Given the description of an element on the screen output the (x, y) to click on. 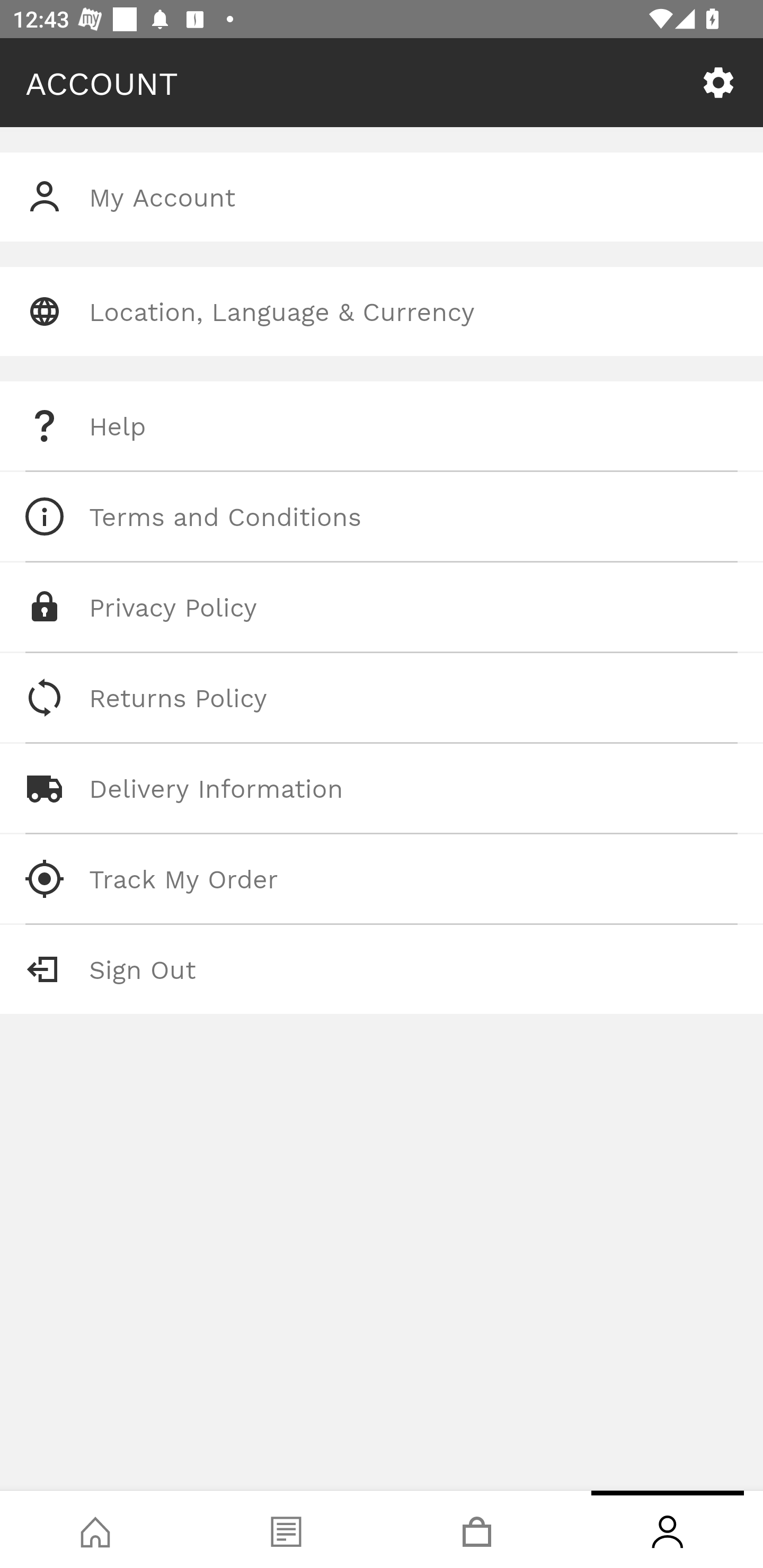
SETTINGS (718, 82)
My Account (381, 196)
Location, Language & Currency (381, 310)
Help (381, 425)
Terms and Conditions (381, 516)
Privacy Policy (381, 607)
Returns Policy (381, 697)
Delivery Information (381, 787)
Track My Order (381, 878)
Sign Out (381, 969)
Shop, tab, 1 of 4 (95, 1529)
Blog, tab, 2 of 4 (285, 1529)
Basket, tab, 3 of 4 (476, 1529)
Account, tab, 4 of 4 (667, 1529)
